Given the description of an element on the screen output the (x, y) to click on. 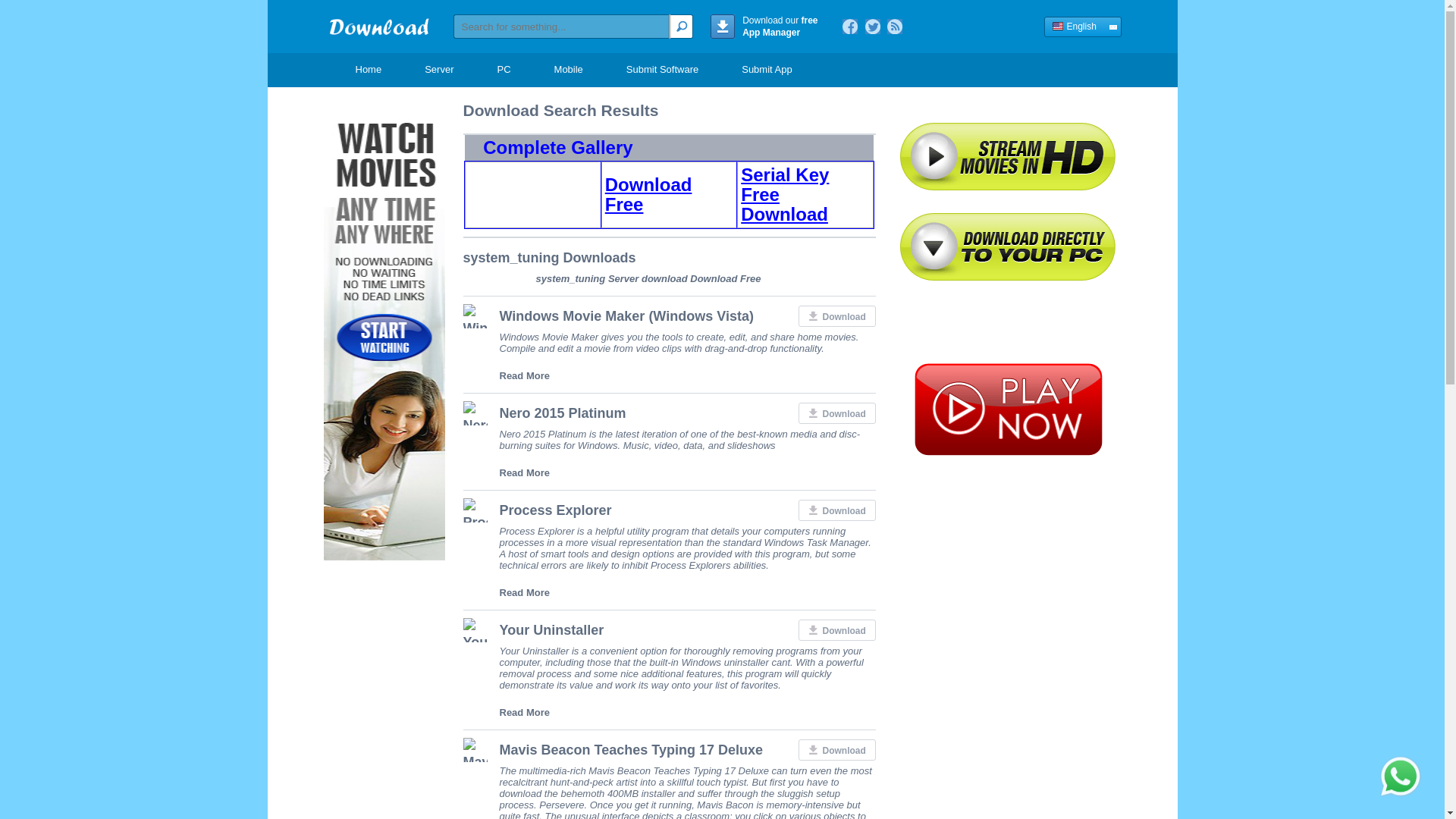
Read More (523, 712)
Download (836, 413)
Home (379, 35)
Download our free App Manager (767, 34)
Read More (523, 375)
Read More (523, 472)
Download (836, 749)
Server download (647, 278)
Serial Key Free Download (784, 194)
Download Free (725, 278)
